Given the description of an element on the screen output the (x, y) to click on. 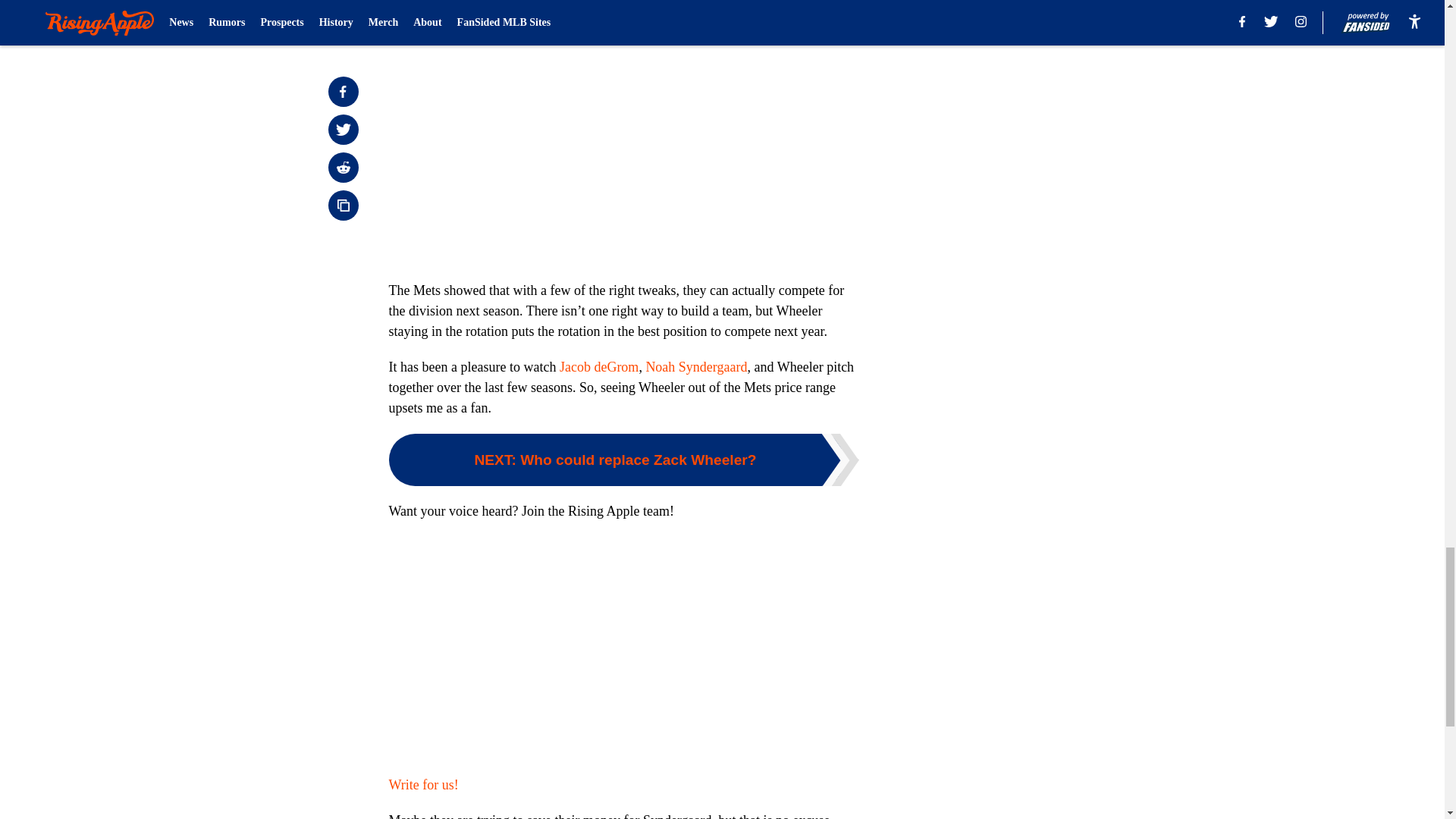
Noah Syndergaard (695, 366)
Jacob deGrom (599, 366)
Write for us! (423, 784)
NEXT: Who could replace Zack Wheeler? (623, 460)
